Given the description of an element on the screen output the (x, y) to click on. 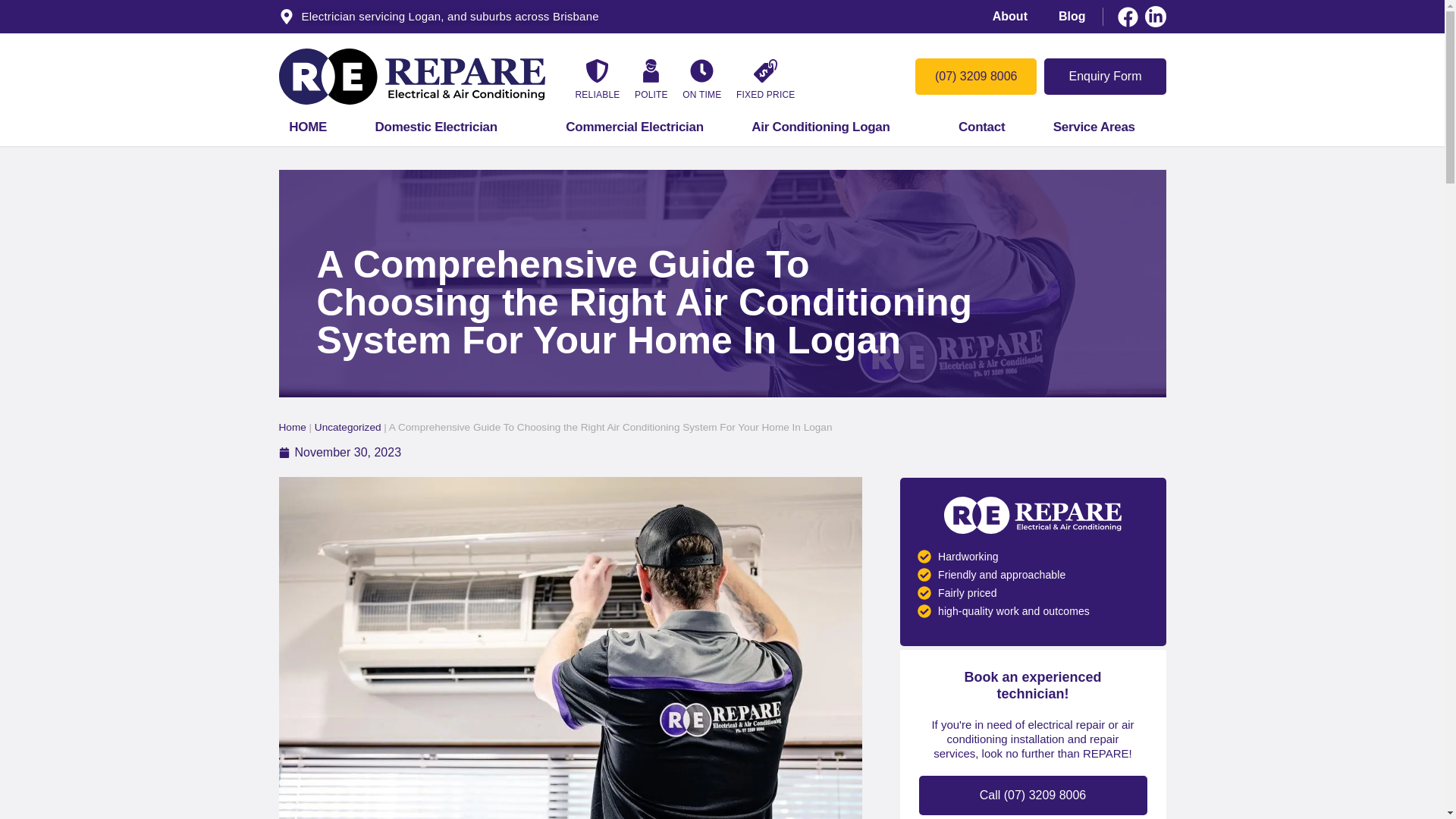
About (1010, 16)
Enquiry Form (1104, 76)
Contact (980, 127)
Air Conditioning Logan (831, 127)
Commercial Electrician (635, 127)
Blog (1071, 16)
Electrician servicing Logan, and suburbs across Brisbane (438, 16)
Service Areas (1104, 127)
HOME (308, 127)
Domestic Electrician (446, 127)
